Given the description of an element on the screen output the (x, y) to click on. 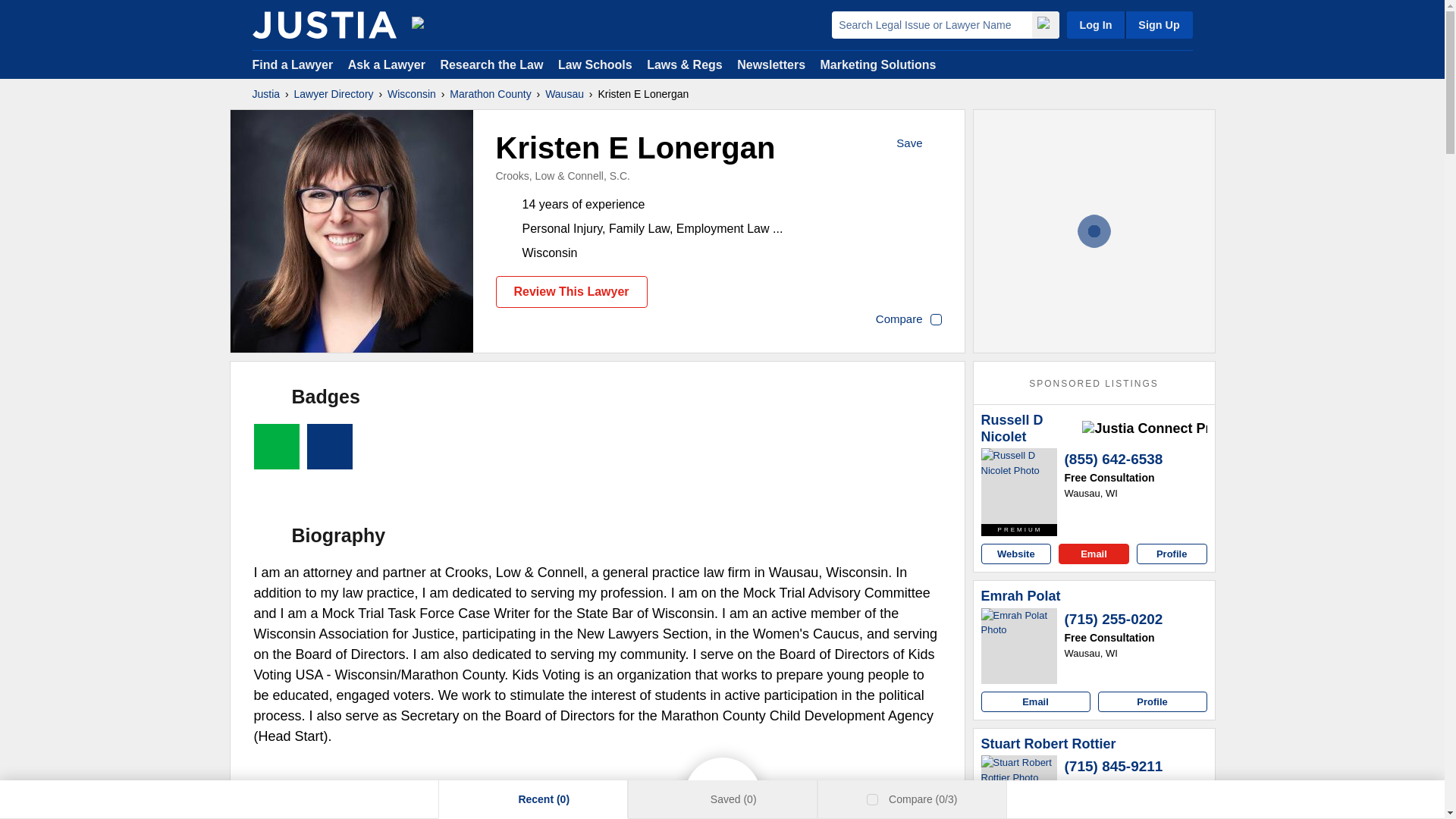
Search Legal Issue or Lawyer Name (930, 24)
Stuart Robert Rottier (1019, 787)
Marketing Solutions (877, 64)
Ask a Lawyer (388, 64)
Wisconsin (411, 93)
Emrah Polat (1021, 596)
Sign Up (1158, 24)
Wausau (563, 93)
Research the Law (491, 64)
Find a Lawyer (292, 64)
Save (919, 143)
Russell D Nicolet (1019, 485)
Justia Lawyer Directory (323, 24)
Stuart Robert Rottier (1048, 744)
Log In (1094, 24)
